Given the description of an element on the screen output the (x, y) to click on. 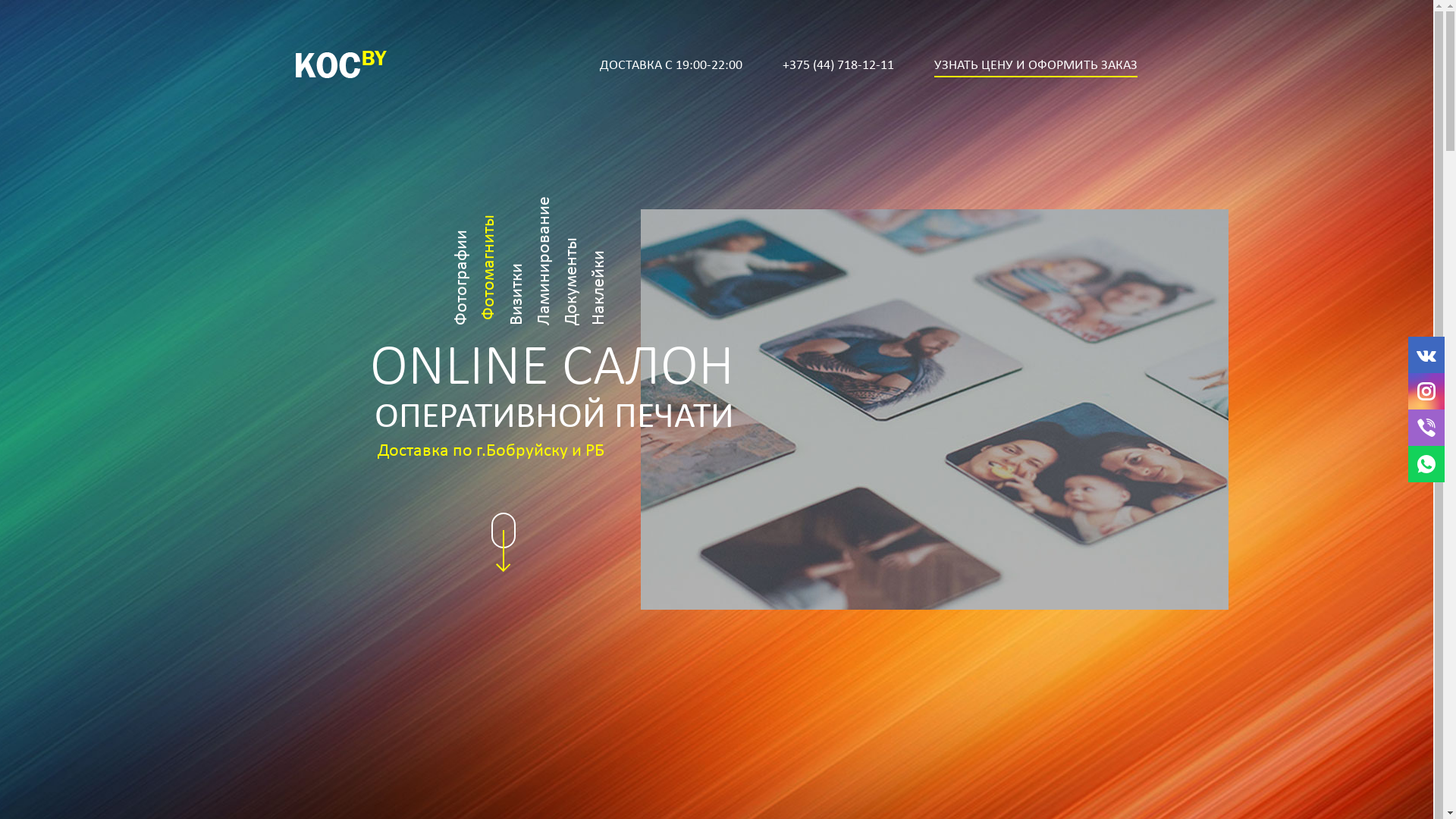
+375 (44) 718-12-11 Element type: text (838, 65)
